Given the description of an element on the screen output the (x, y) to click on. 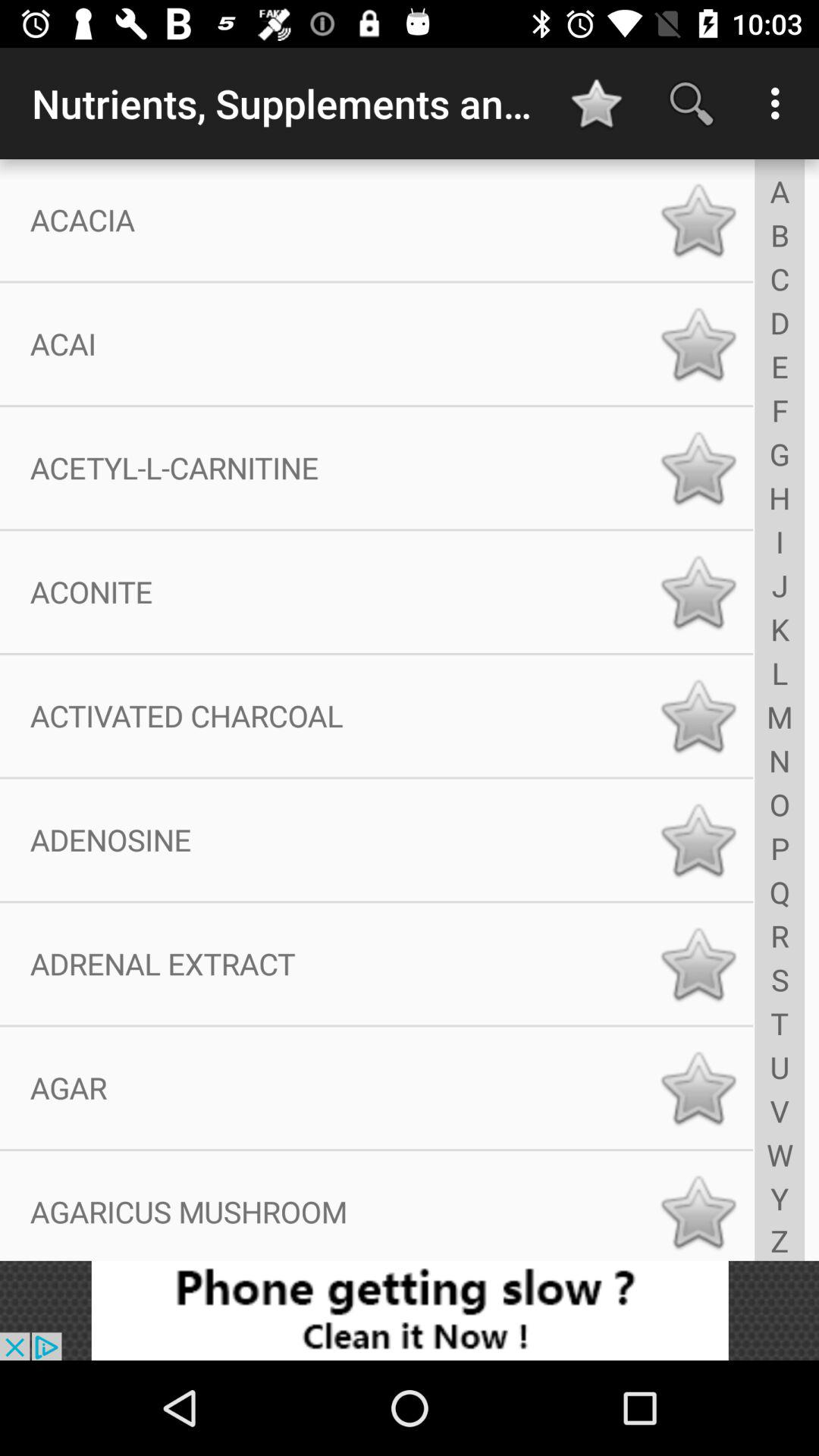
add to favorites (697, 468)
